Given the description of an element on the screen output the (x, y) to click on. 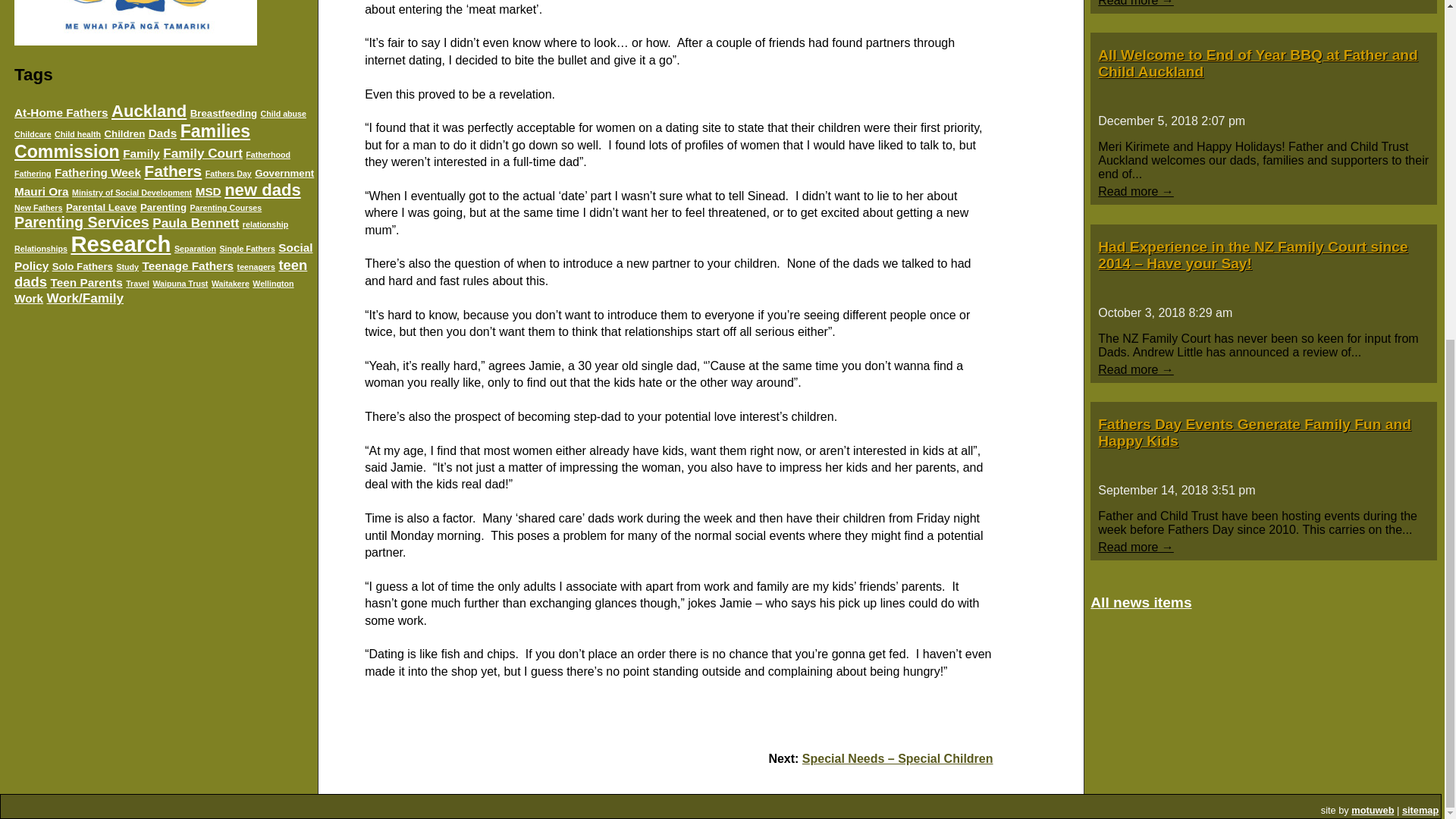
Lost? (1420, 809)
Child abuse (282, 112)
Breastfeeding (223, 112)
fast, effective, hand-crafted websites (1372, 809)
Auckland (149, 110)
At-Home Fathers (60, 112)
